Given the description of an element on the screen output the (x, y) to click on. 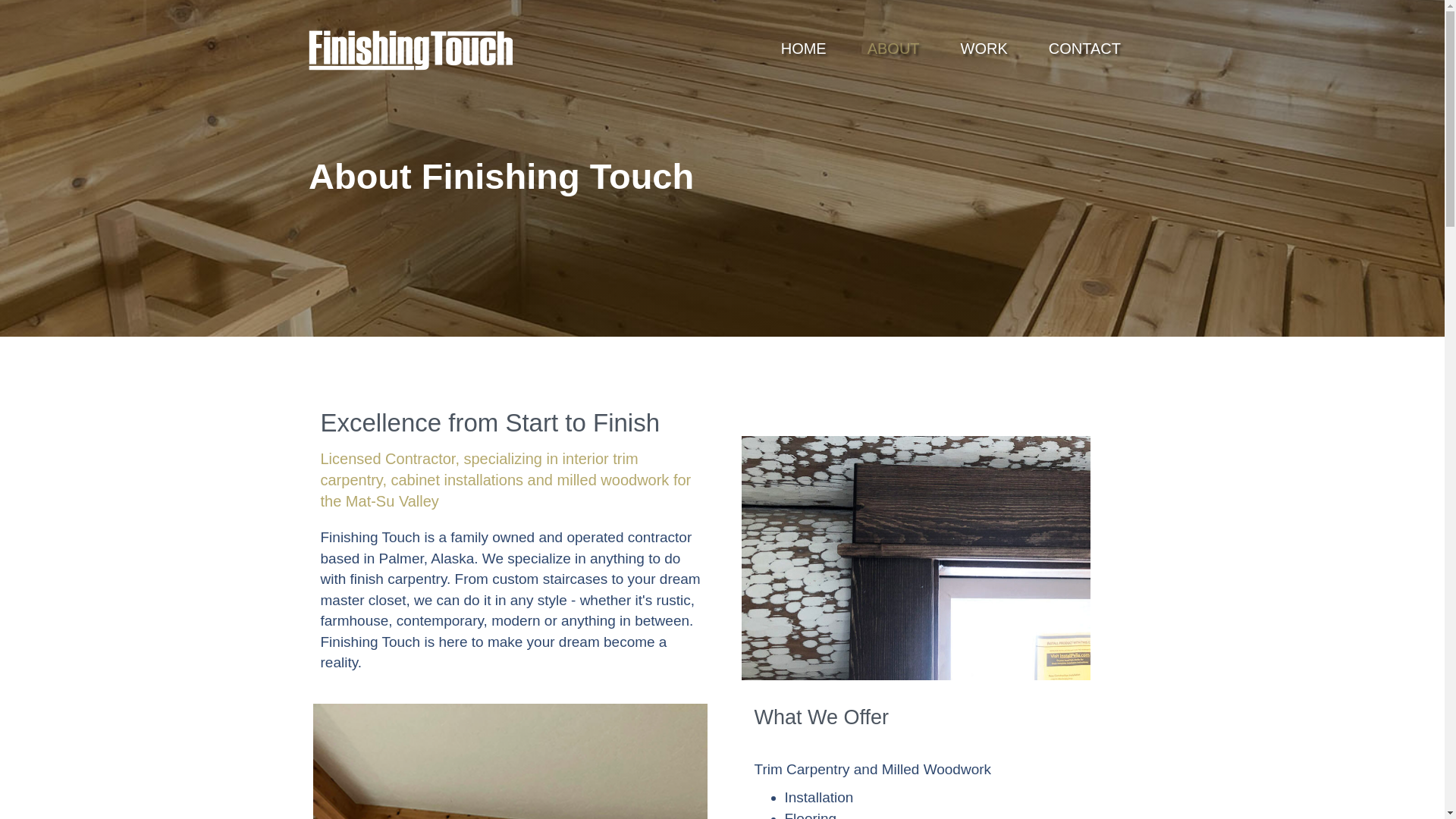
HOME (798, 53)
ABOUT (888, 53)
CONTACT (1079, 53)
WORK (979, 53)
Unparalleled Value (509, 761)
logo (410, 50)
